Given the description of an element on the screen output the (x, y) to click on. 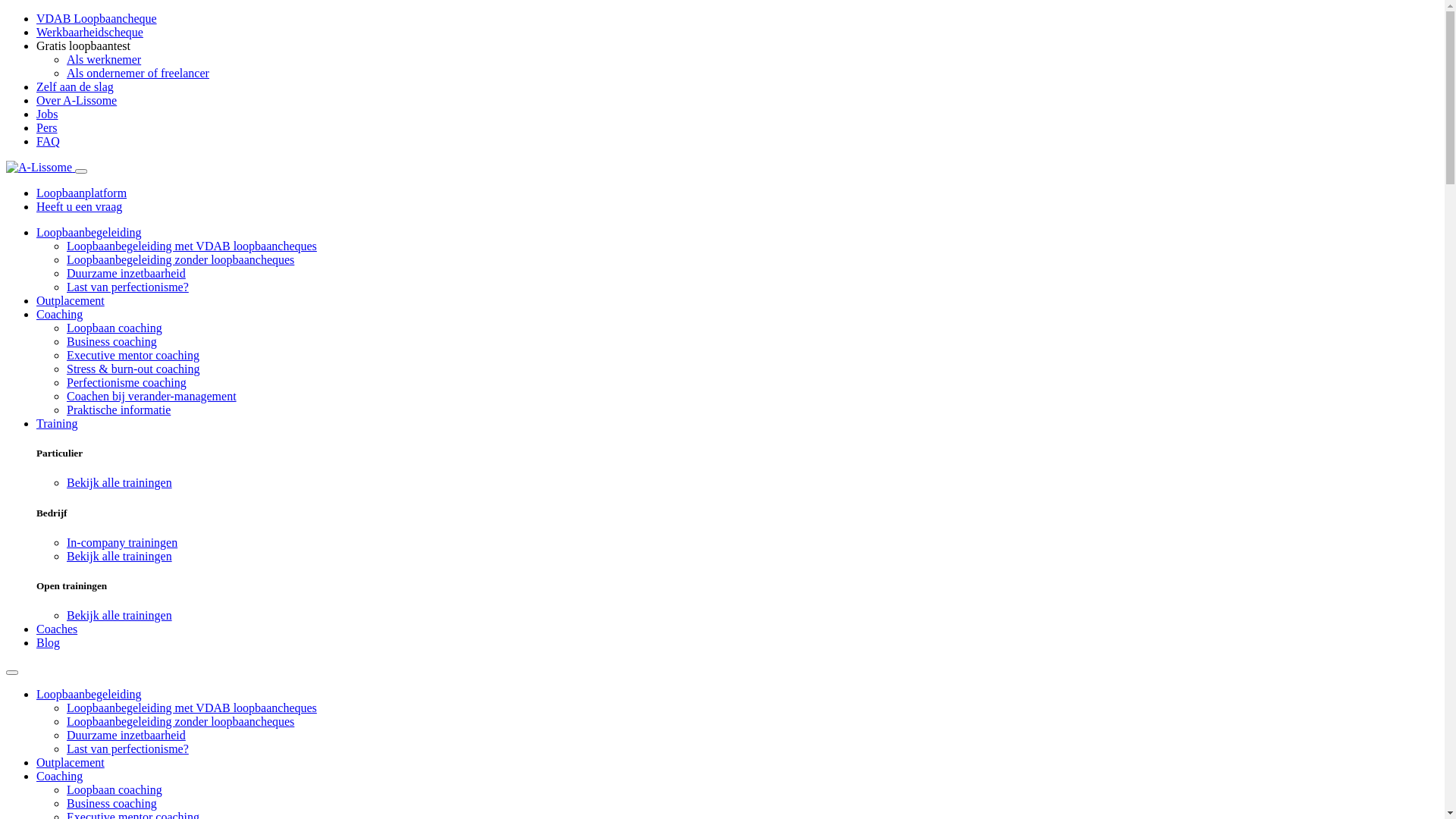
Loopbaanbegeleiding Element type: text (88, 693)
Business coaching Element type: text (111, 341)
VDAB Loopbaancheque Element type: text (96, 18)
Stress & burn-out coaching Element type: text (133, 368)
Als werknemer Element type: text (103, 59)
Loopbaanbegeleiding met VDAB loopbaancheques Element type: text (191, 245)
Loopbaanplatform Element type: text (81, 192)
Loopbaanbegeleiding Element type: text (88, 231)
Outplacement Element type: text (70, 762)
Duurzame inzetbaarheid Element type: text (125, 272)
Zelf aan de slag Element type: text (74, 86)
Bekijk alle trainingen Element type: text (119, 555)
Pers Element type: text (46, 127)
Jobs Element type: text (46, 113)
Coachen bij verander-management Element type: text (151, 395)
Loopbaan coaching Element type: text (114, 789)
Last van perfectionisme? Element type: text (127, 286)
Perfectionisme coaching Element type: text (126, 382)
Loopbaanbegeleiding zonder loopbaancheques Element type: text (180, 259)
Blog Element type: text (47, 642)
Outplacement Element type: text (70, 300)
Loopbaan coaching Element type: text (114, 327)
Coaches Element type: text (56, 628)
Bekijk alle trainingen Element type: text (119, 614)
Heeft u een vraag Element type: text (79, 206)
Duurzame inzetbaarheid Element type: text (125, 734)
Training Element type: text (57, 423)
Business coaching Element type: text (111, 803)
FAQ Element type: text (47, 140)
Loopbaanbegeleiding met VDAB loopbaancheques Element type: text (191, 707)
In-company trainingen Element type: text (121, 542)
Praktische informatie Element type: text (118, 409)
Werkbaarheidscheque Element type: text (89, 31)
Loopbaanbegeleiding zonder loopbaancheques Element type: text (180, 721)
Last van perfectionisme? Element type: text (127, 748)
Executive mentor coaching Element type: text (132, 354)
Coaching Element type: text (59, 775)
Bekijk alle trainingen Element type: text (119, 482)
Als ondernemer of freelancer Element type: text (137, 72)
Over A-Lissome Element type: text (76, 100)
Coaching Element type: text (59, 313)
